Given the description of an element on the screen output the (x, y) to click on. 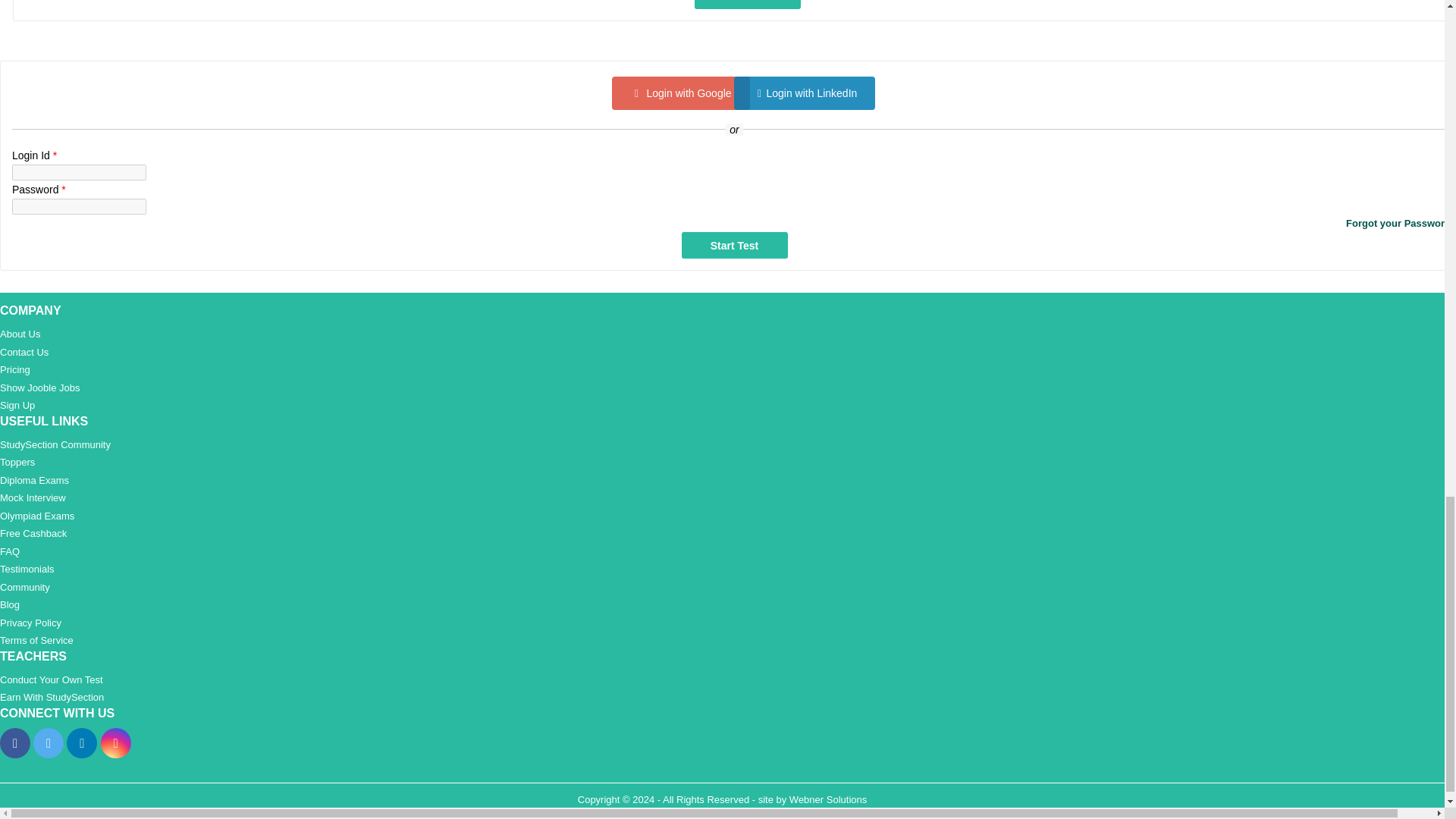
Start Test (734, 244)
Forgot your Password? (733, 223)
Get new password (733, 223)
Login with LinkedIn (804, 92)
Start Test (734, 244)
Start Test (747, 4)
Start Test (747, 4)
Login with Google (680, 92)
Start Test (747, 4)
